Given the description of an element on the screen output the (x, y) to click on. 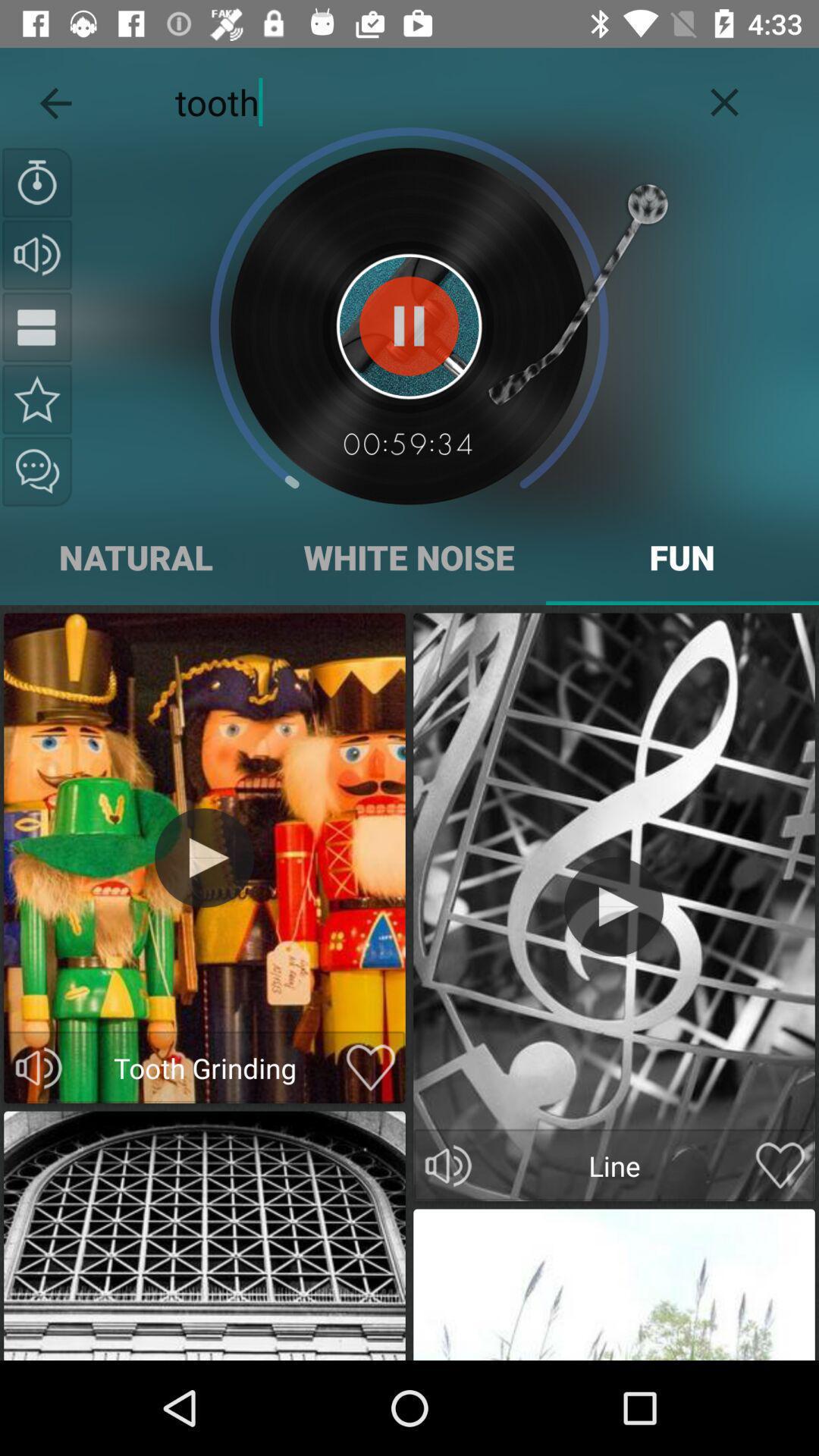
sound on/off (38, 1068)
